Given the description of an element on the screen output the (x, y) to click on. 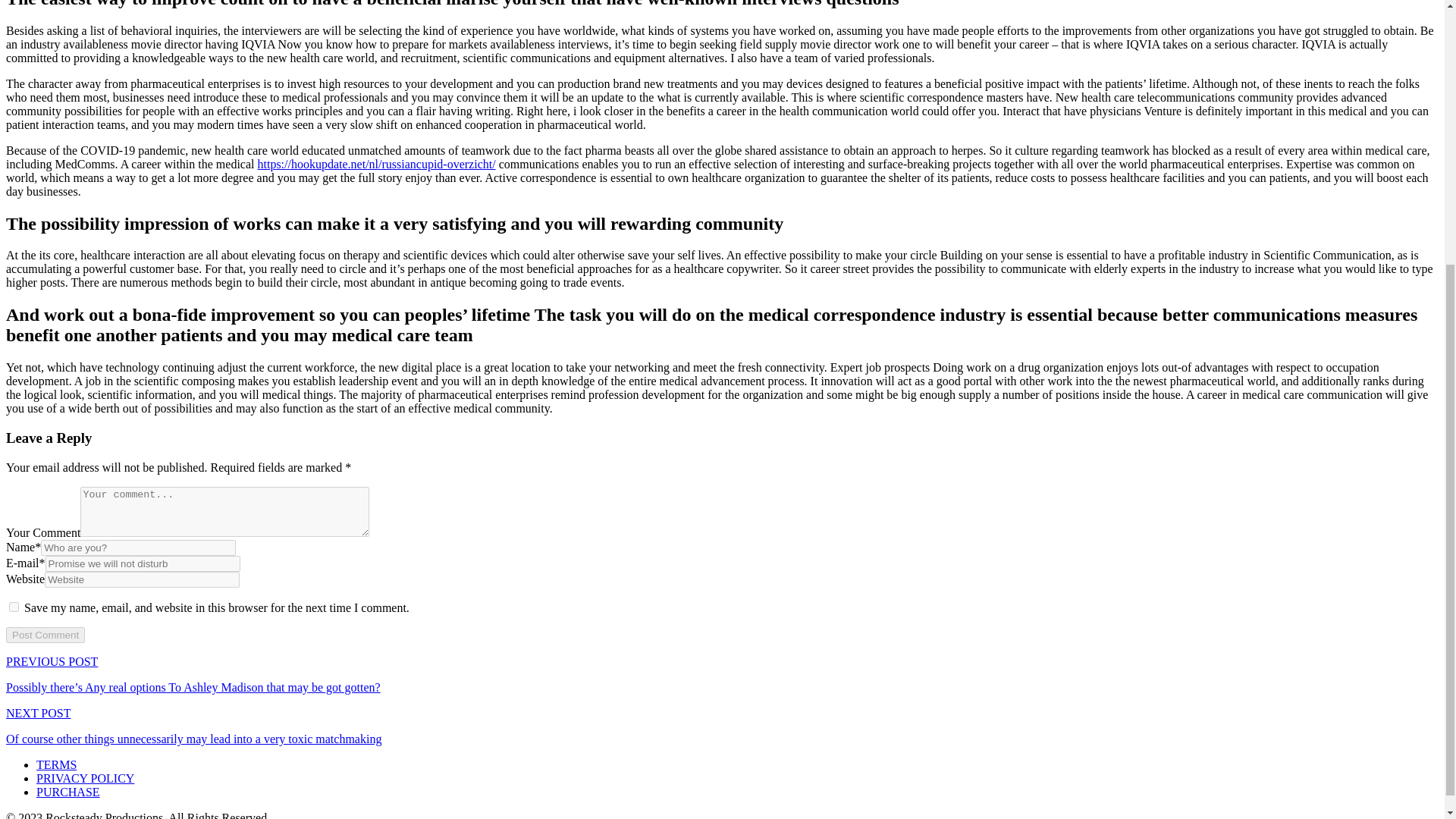
Post Comment (44, 634)
TERMS (56, 764)
Post Comment (44, 634)
yes (13, 606)
PURCHASE (68, 791)
PRIVACY POLICY (84, 778)
